Given the description of an element on the screen output the (x, y) to click on. 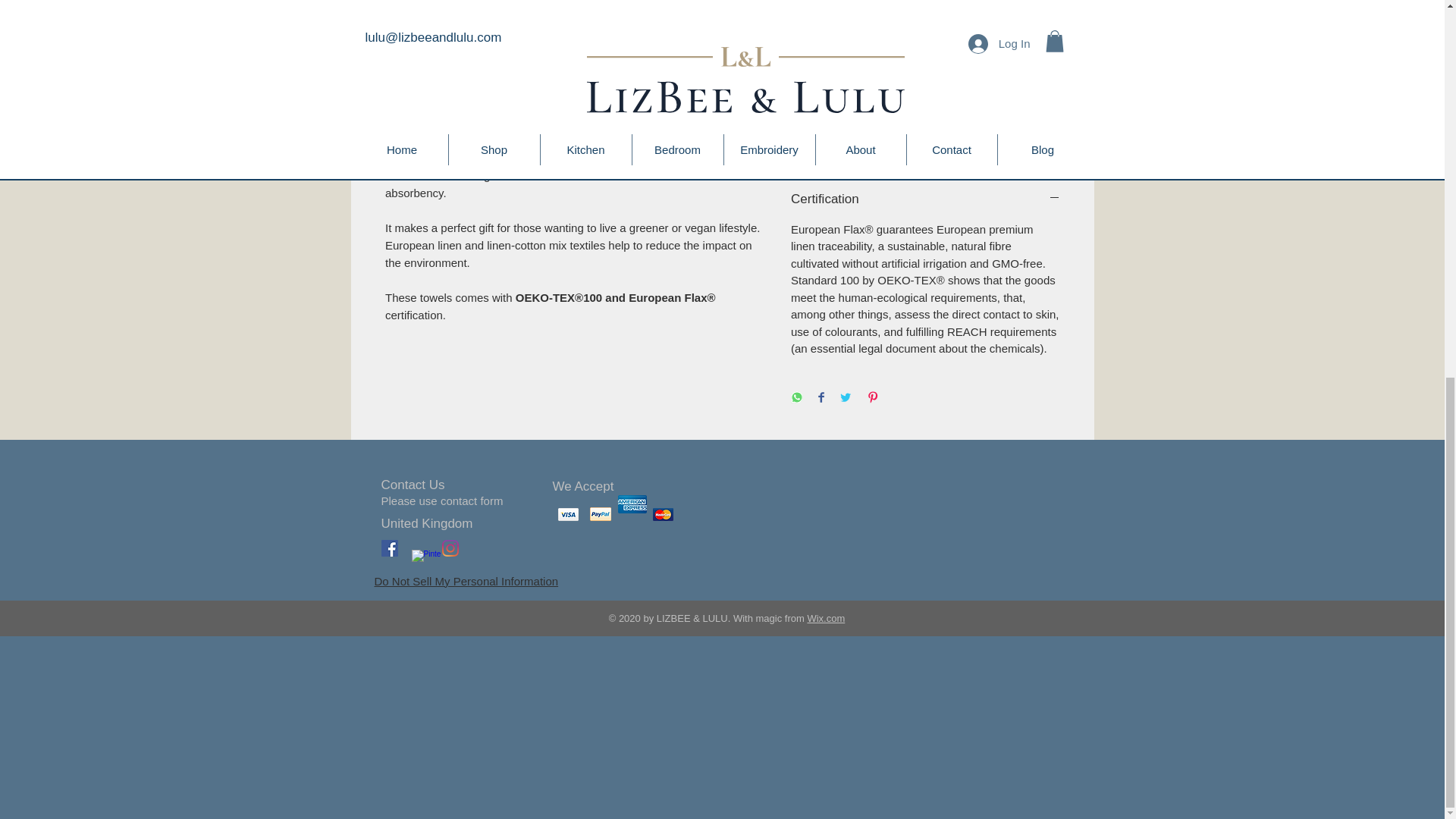
Do Not Sell My Personal Information (466, 580)
Add to Cart (924, 98)
Certification (924, 199)
Buy Now (924, 137)
1 (821, 43)
Wix.com (825, 618)
